Given the description of an element on the screen output the (x, y) to click on. 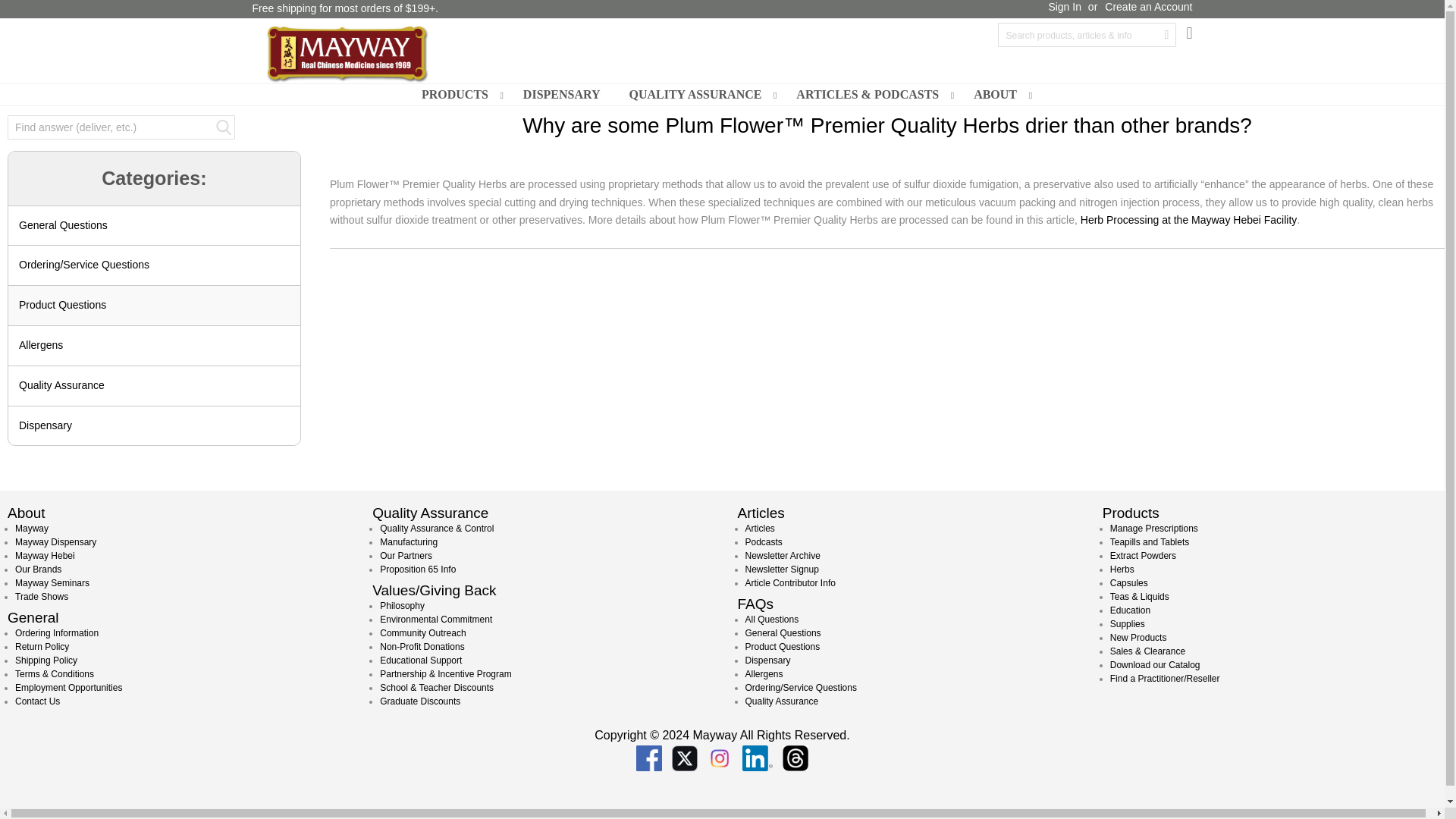
Create an Account (1148, 7)
Sign In (1064, 7)
Search (120, 127)
Search (223, 127)
Mayway (346, 52)
PRODUCTS (457, 94)
